Given the description of an element on the screen output the (x, y) to click on. 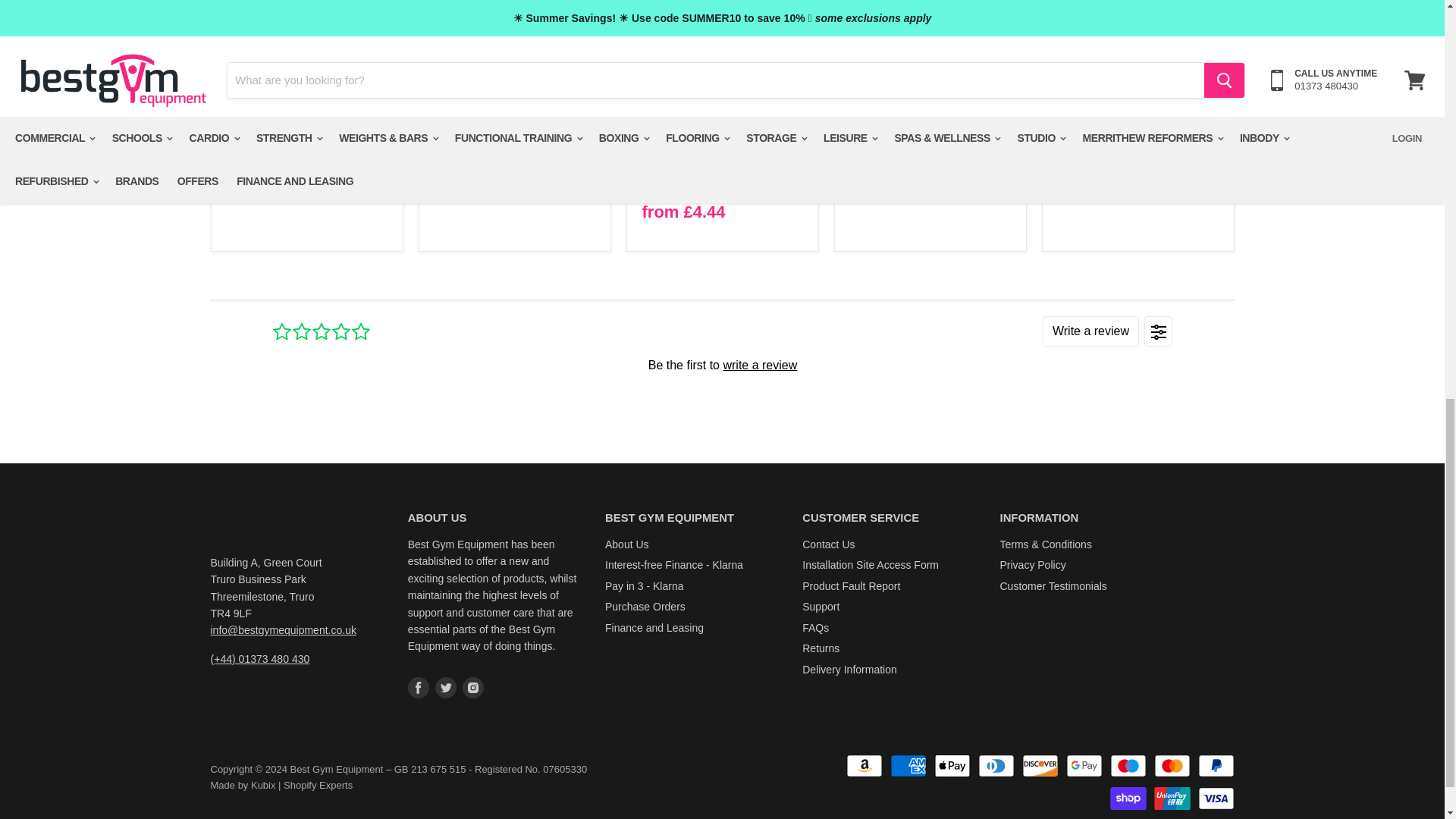
Twitter (446, 687)
Facebook (418, 687)
Product reviews widget (721, 364)
tel:01373480430 (260, 658)
Instagram (473, 687)
